Given the description of an element on the screen output the (x, y) to click on. 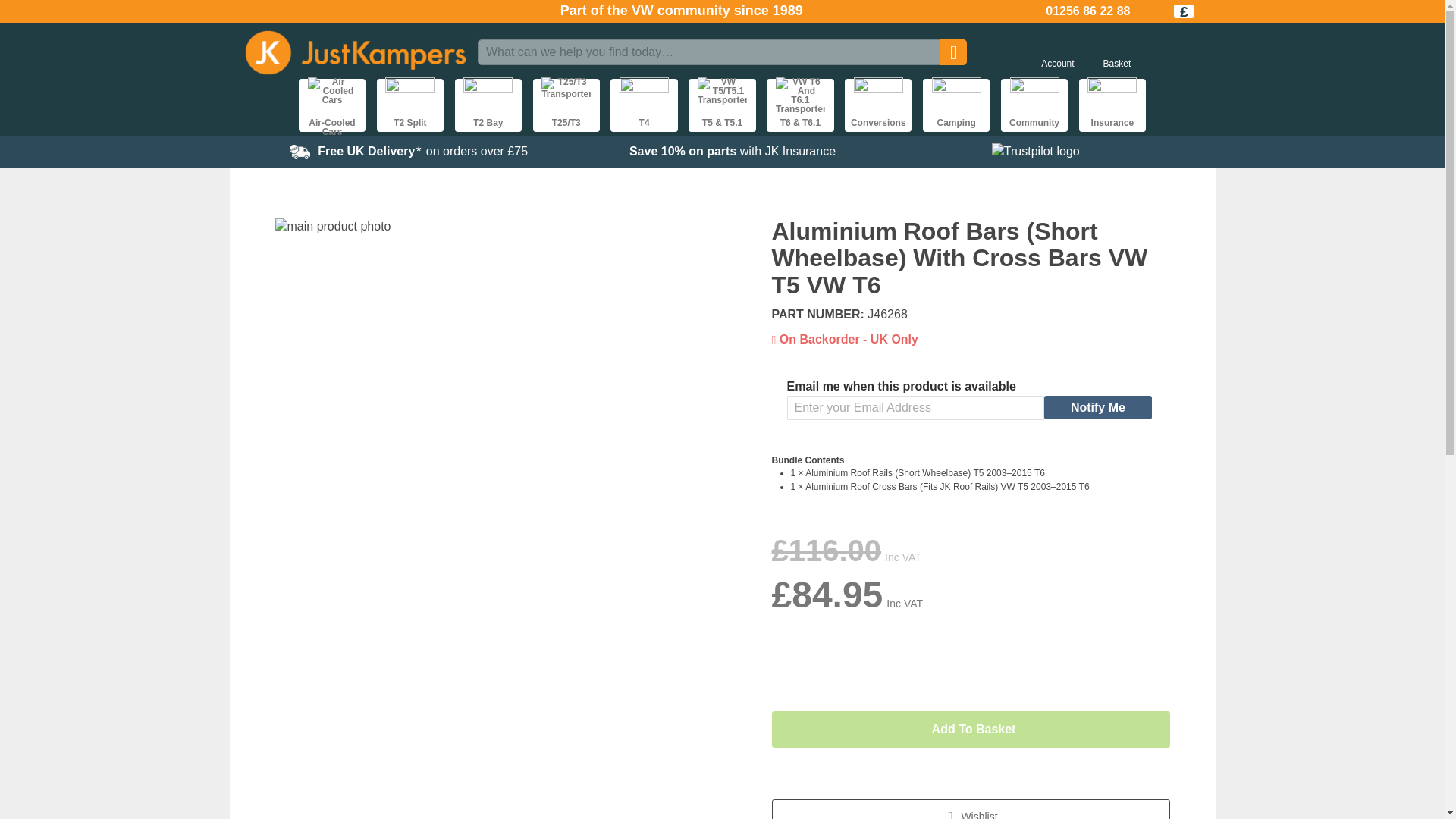
Add to Basket (970, 729)
Insurance (1111, 104)
Air-Cooled Cars (331, 104)
Community (1034, 104)
01256 86 22 88 (1087, 10)
T2 Bay (487, 104)
Camping (956, 104)
T4 (643, 104)
Conversions (877, 104)
Just Kampers (354, 52)
